Given the description of an element on the screen output the (x, y) to click on. 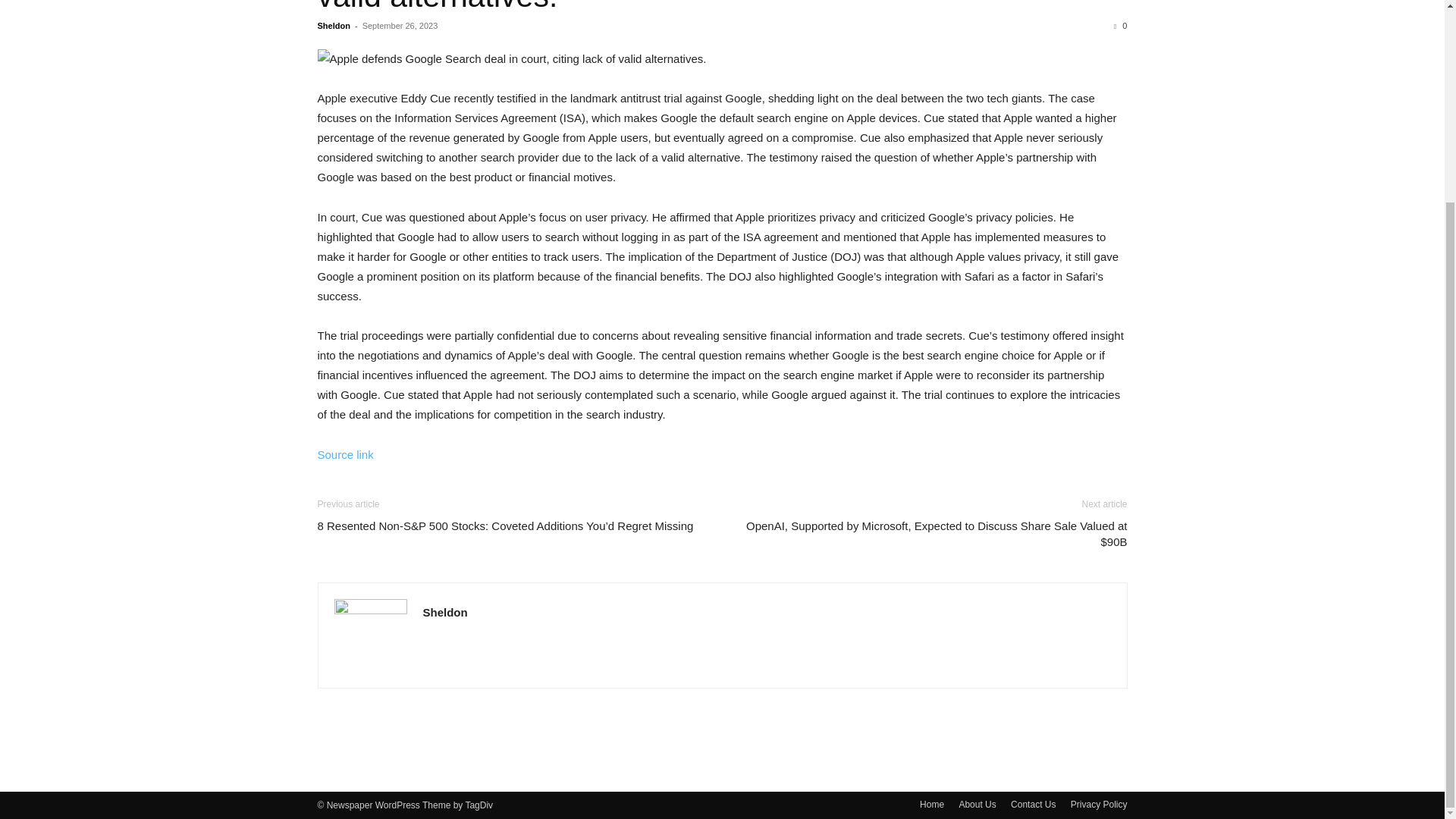
0 (1119, 25)
Privacy Policy (1098, 804)
Sheldon (445, 612)
Sheldon (333, 25)
Contact Us (1032, 804)
About Us (976, 804)
Home (931, 804)
Source link (344, 454)
